Given the description of an element on the screen output the (x, y) to click on. 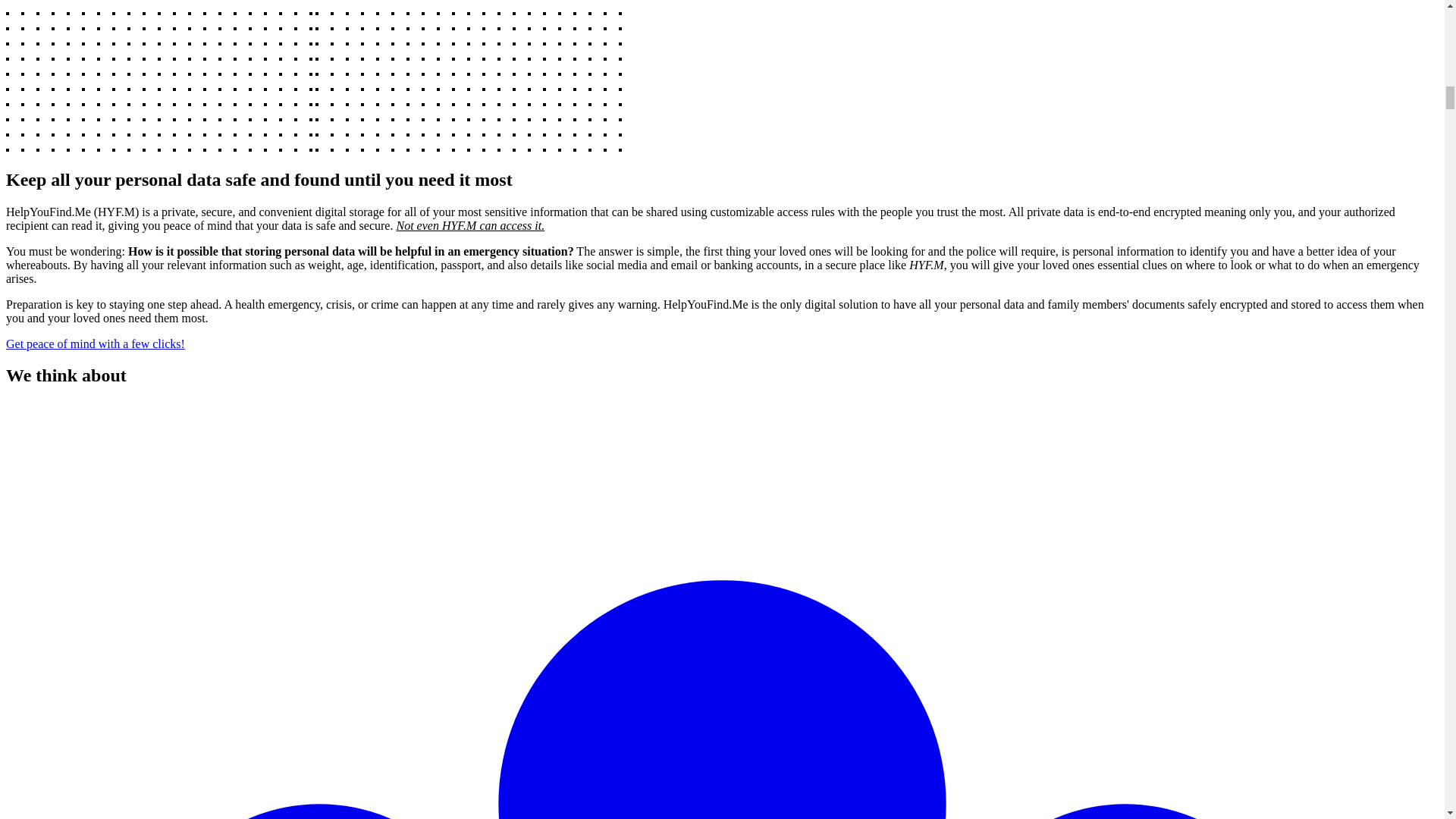
Get peace of mind with a few clicks! (94, 343)
